Given the description of an element on the screen output the (x, y) to click on. 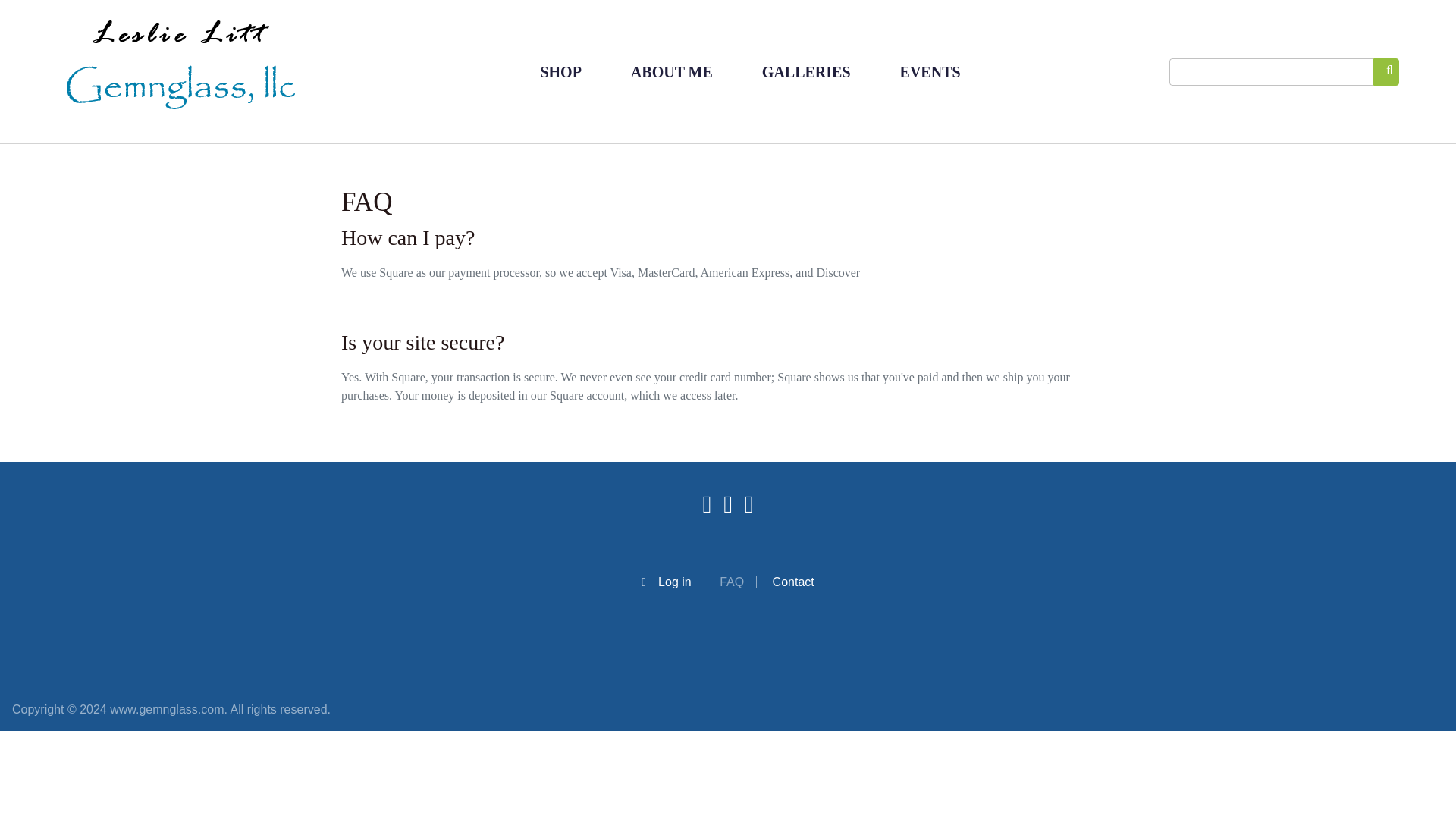
Enter the terms you wish to search for. (1271, 71)
SHOP (560, 71)
Home (180, 71)
Contact (793, 581)
FAQ (738, 581)
ABOUT ME (671, 71)
Log in (672, 581)
EVENTS (930, 71)
GALLERIES (806, 71)
